Given the description of an element on the screen output the (x, y) to click on. 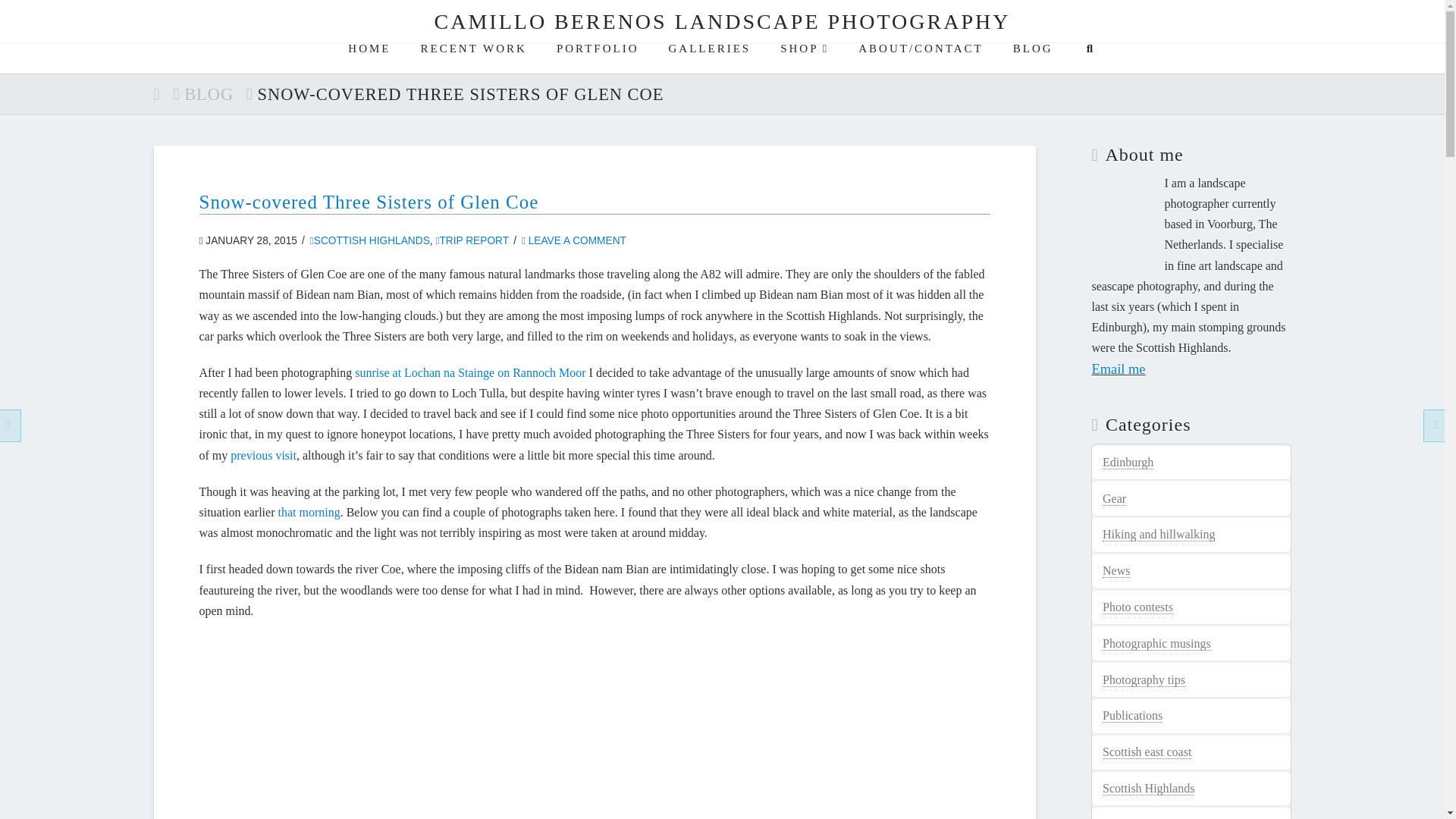
sunrise at Lochan na Stainge on Rannoch Moor (470, 372)
BLOG (1032, 58)
SHOP (803, 58)
TRIP REPORT (471, 240)
LEAVE A COMMENT (573, 240)
Dawn on Rannoch Moor: Lochan na Stainge in winter (470, 372)
PORTFOLIO (596, 58)
Dawn on Rannoch Moor: Lochan na Stainge in winter (308, 512)
SNOW-COVERED THREE SISTERS OF GLEN COE (460, 94)
BLOG (208, 94)
